Given the description of an element on the screen output the (x, y) to click on. 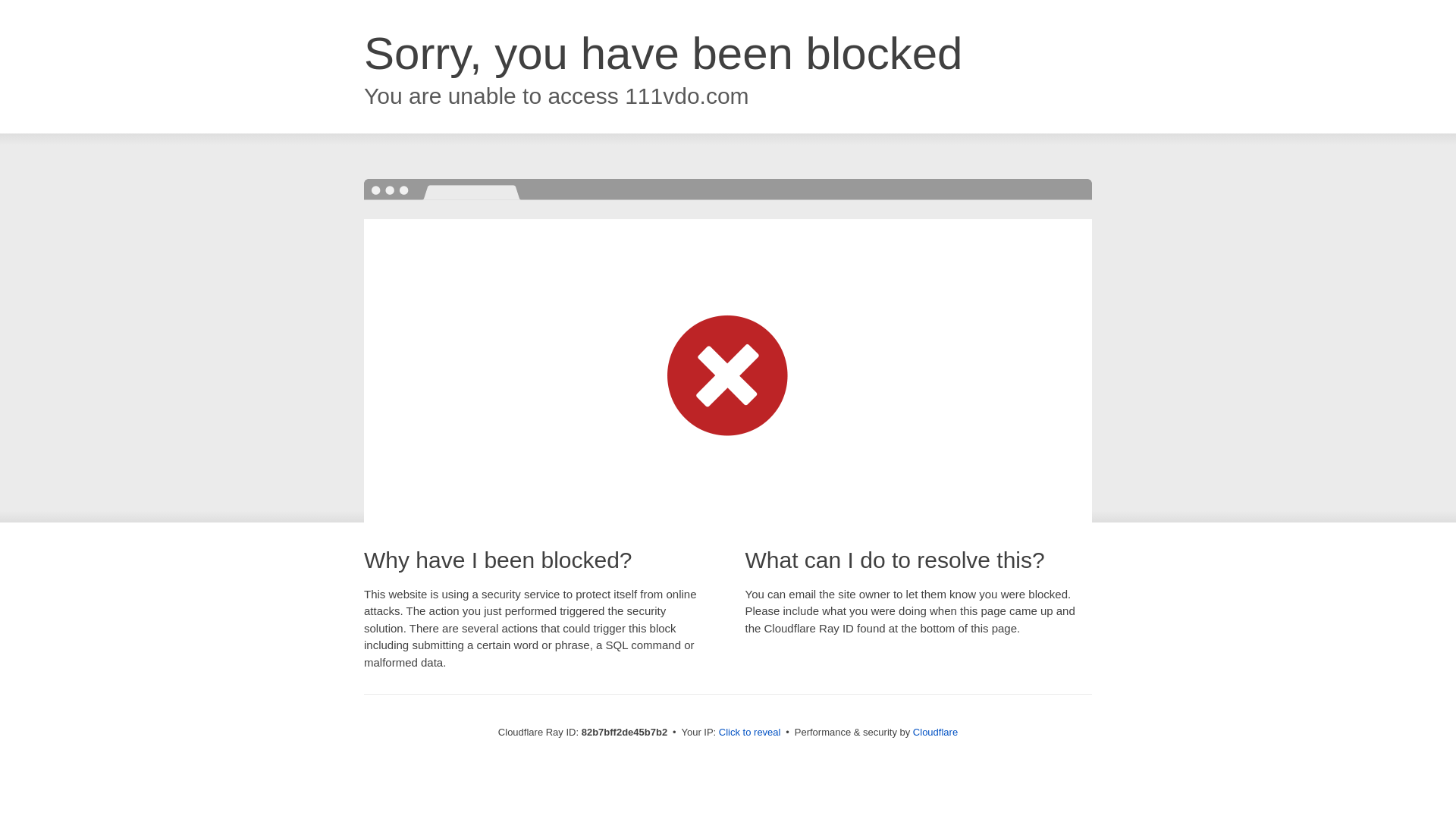
Cloudflare Element type: text (935, 731)
Click to reveal Element type: text (749, 732)
